Given the description of an element on the screen output the (x, y) to click on. 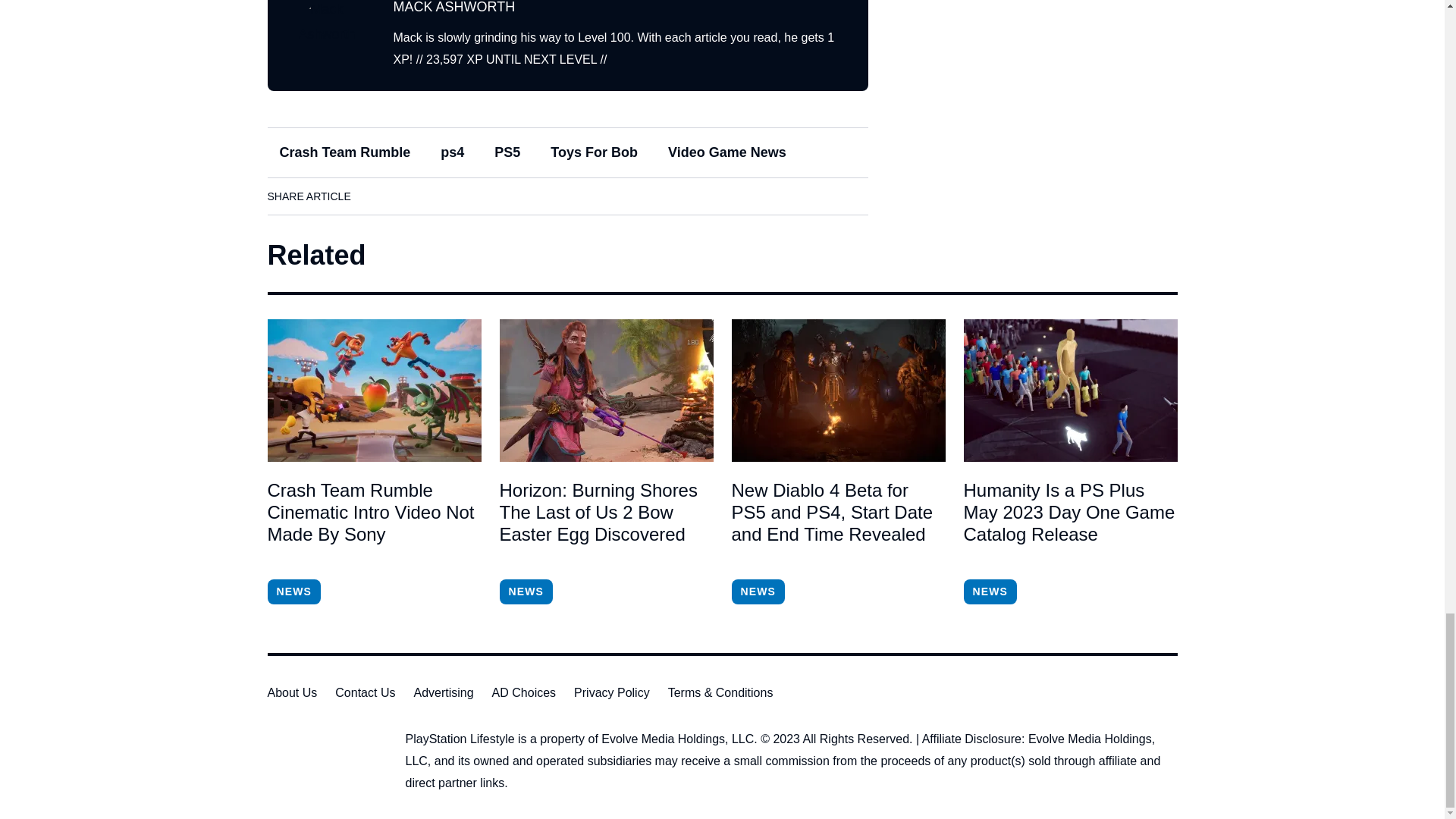
Humanity Is a PS Plus May 2023 Day One Game Catalog Release (1069, 523)
Crash Team Rumble Cinematic Intro Video Not Made By Sony (373, 390)
Toys For Bob (593, 152)
ps4 (452, 152)
MACK ASHWORTH (454, 7)
Twitter (463, 196)
